Given the description of an element on the screen output the (x, y) to click on. 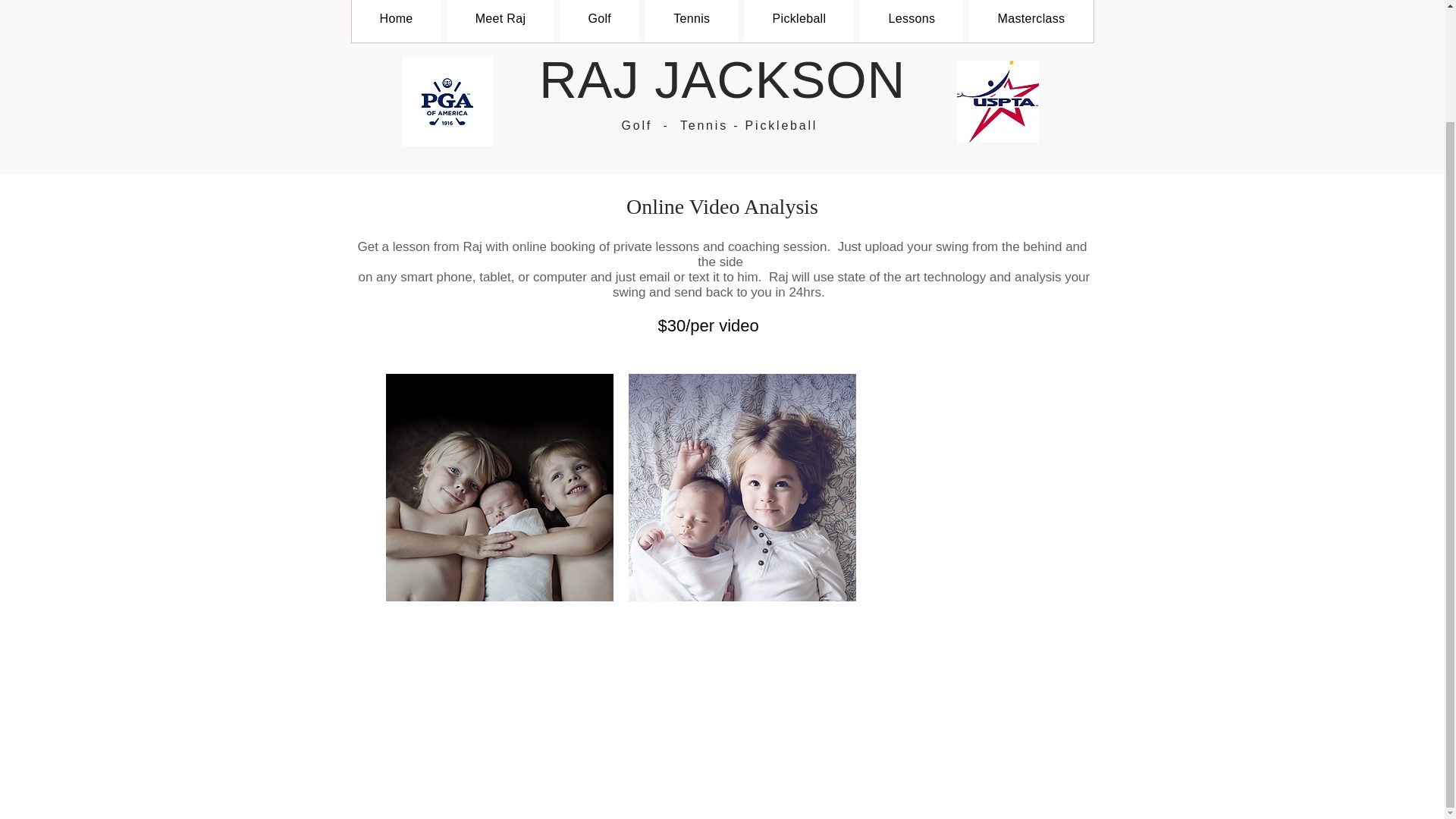
Masterclass (1031, 21)
Meet Raj (500, 21)
Golf (599, 21)
Home (396, 21)
Lessons (911, 21)
Tennis (691, 21)
Pickleball (798, 21)
